Given the description of an element on the screen output the (x, y) to click on. 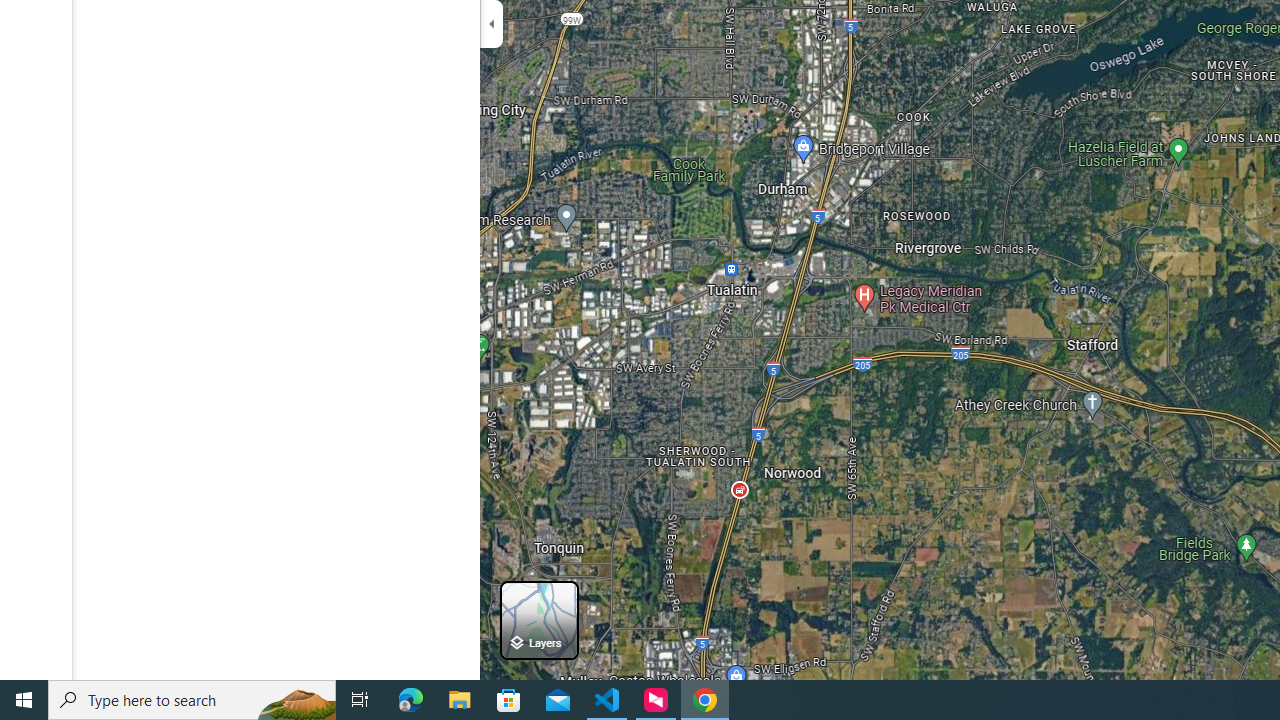
Layers (539, 620)
